Given the description of an element on the screen output the (x, y) to click on. 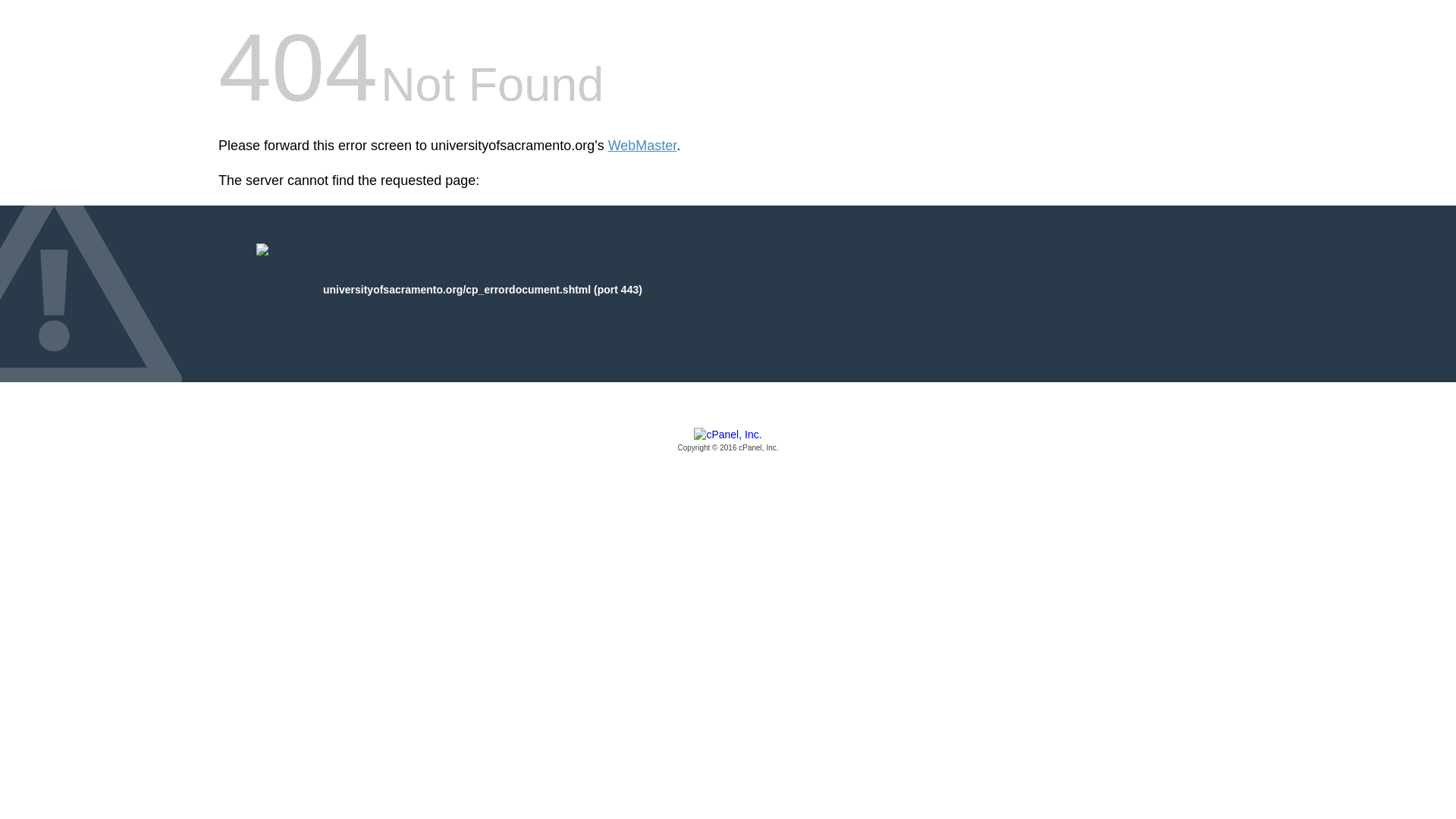
WebMaster (642, 145)
cPanel, Inc. (727, 440)
